Given the description of an element on the screen output the (x, y) to click on. 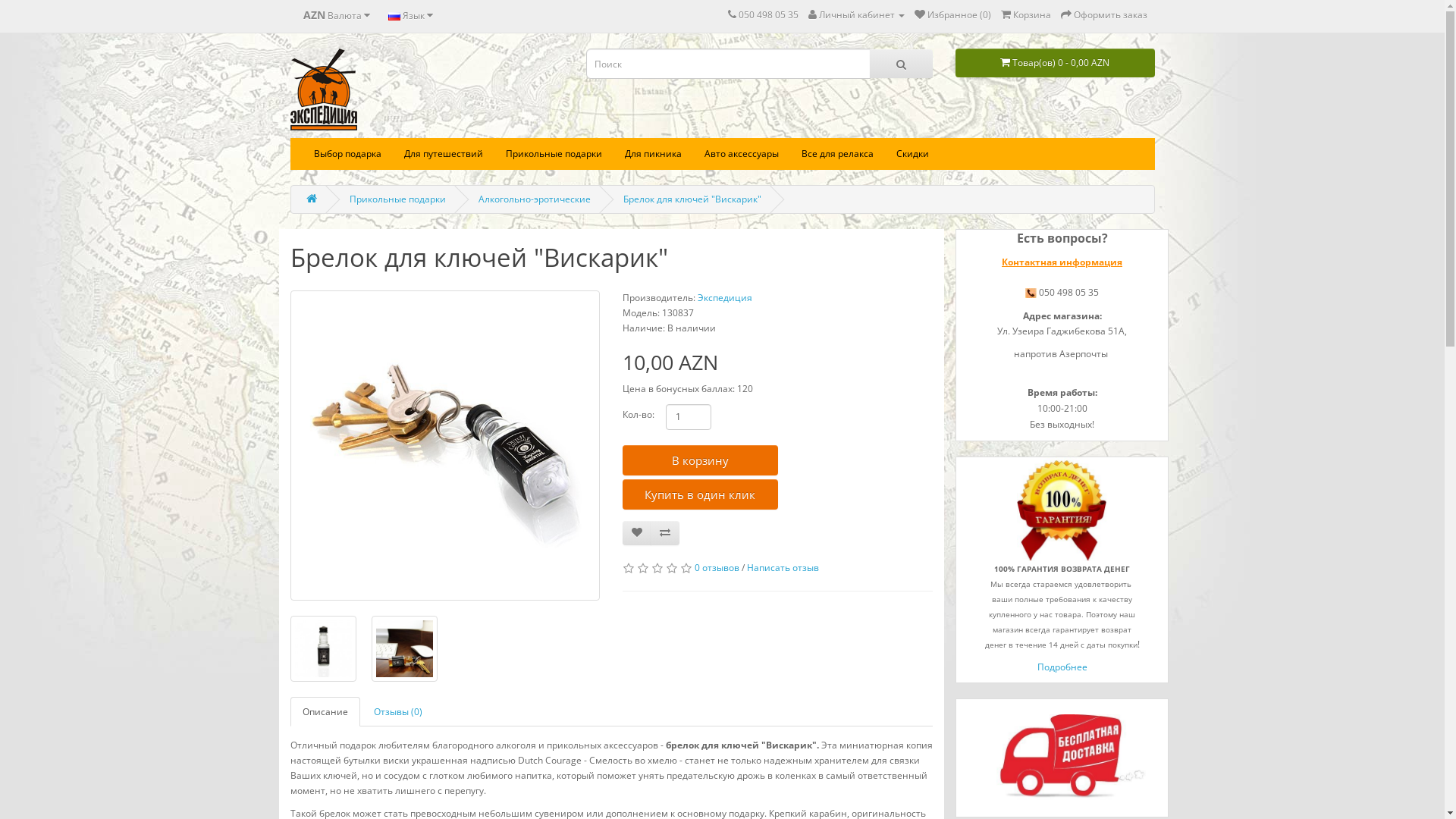
Expedition AZ Element type: hover (322, 89)
